Given the description of an element on the screen output the (x, y) to click on. 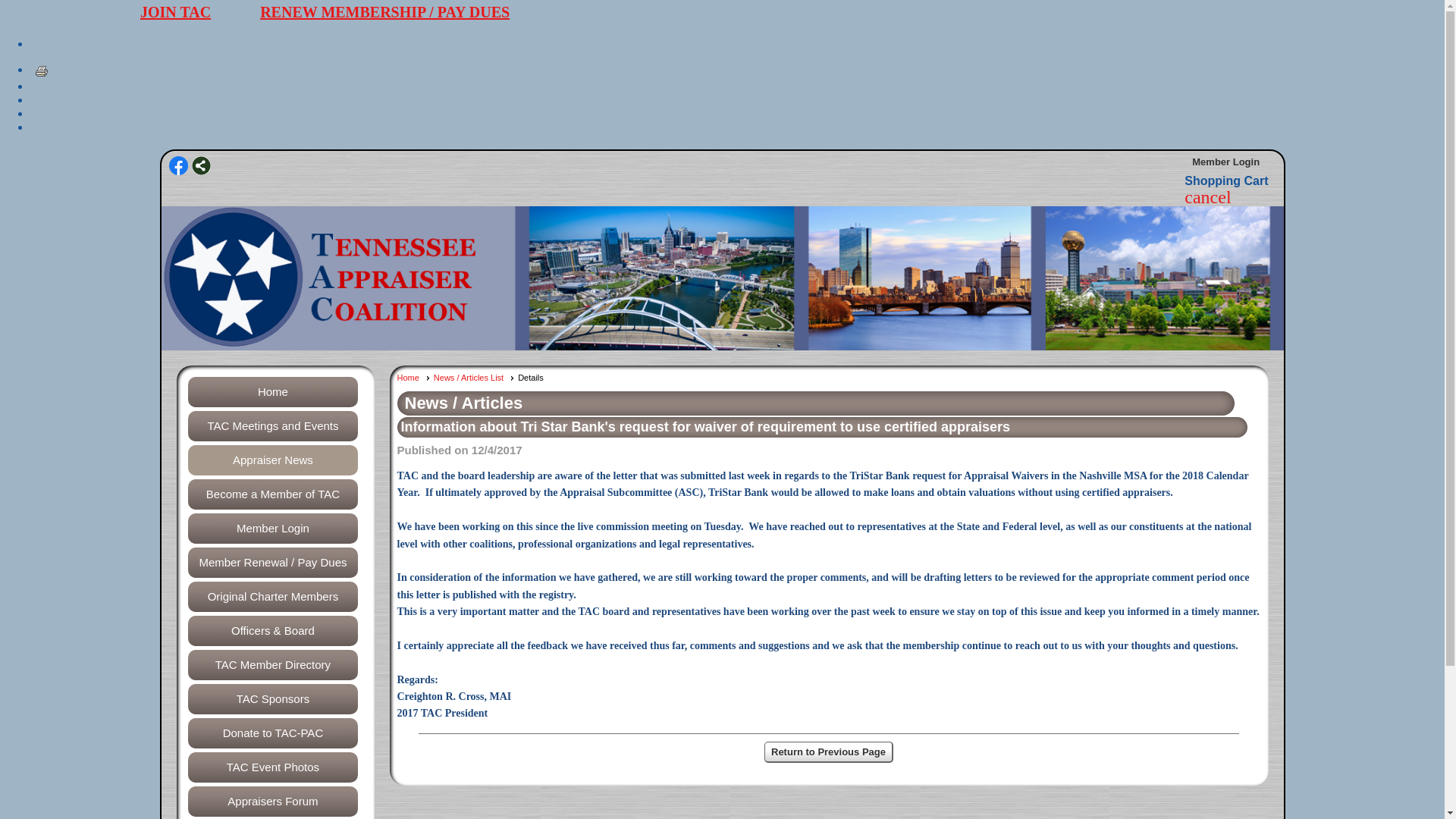
JOIN TAC (175, 12)
Become a Member of TAC (271, 494)
Return to Previous Page (828, 752)
Home (413, 377)
Appraisers Forum (271, 801)
Click here for more sharing options (199, 165)
TAC Event Photos (271, 767)
Print (41, 70)
Member Login (271, 528)
TAC Member Directory (271, 665)
Appraiser News (271, 460)
Opens a widget where you can find more information (1389, 792)
Visit us on Facebook (177, 166)
Donate to TAC-PAC (271, 733)
Original Charter Members (271, 596)
